Given the description of an element on the screen output the (x, y) to click on. 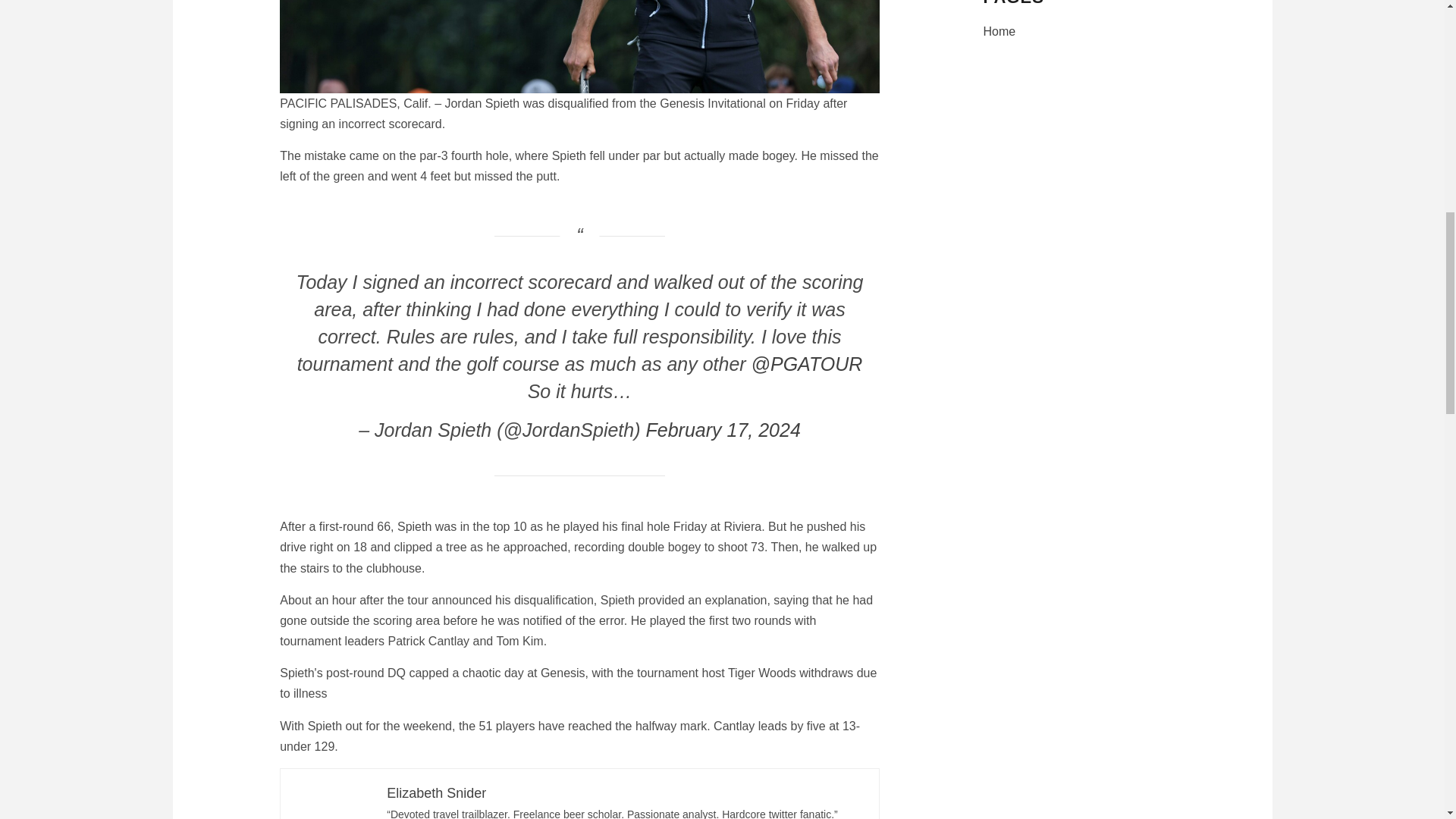
Elizabeth Snider (436, 792)
February 17, 2024 (723, 429)
